Given the description of an element on the screen output the (x, y) to click on. 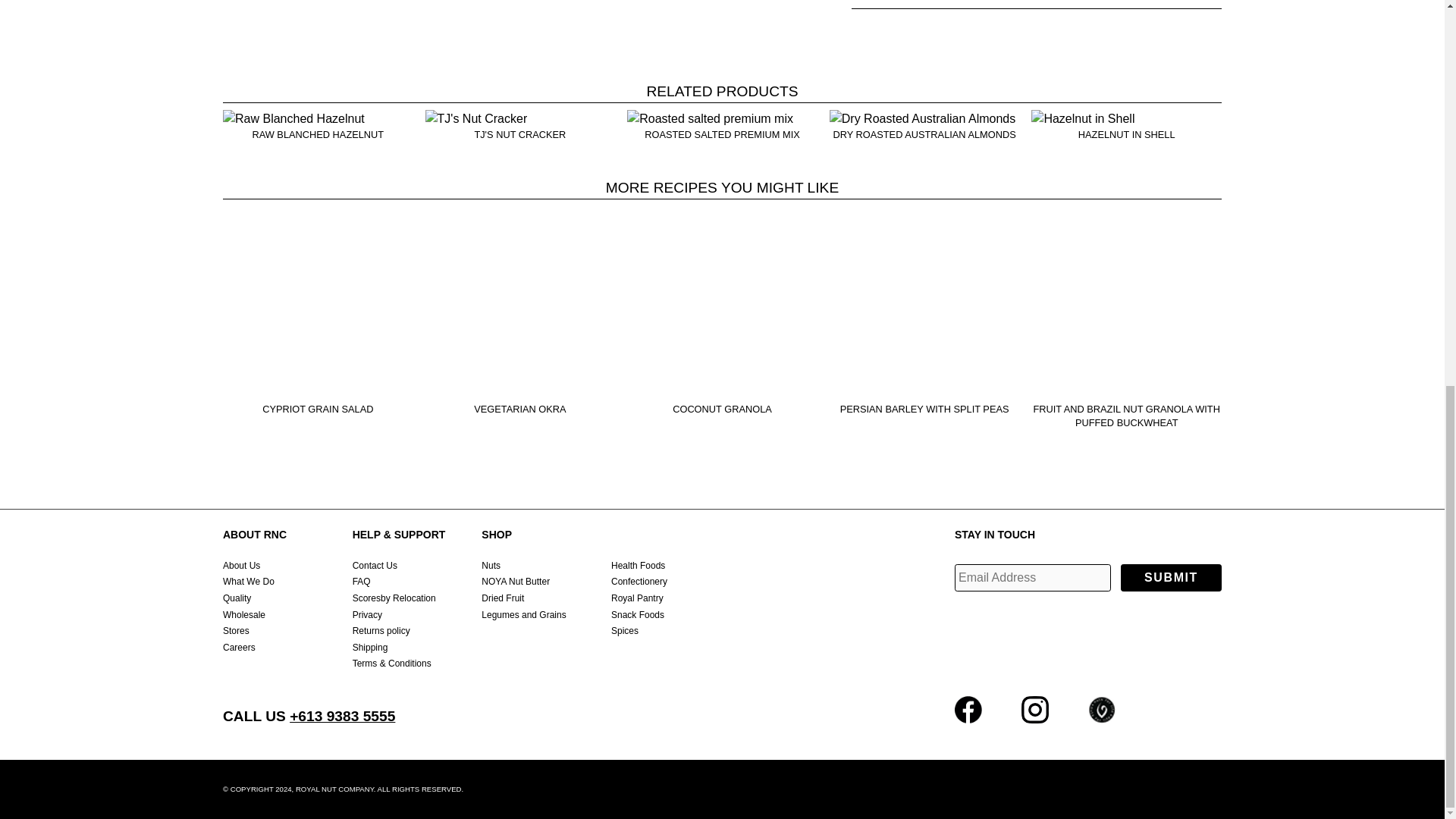
Submit (1171, 577)
